Given the description of an element on the screen output the (x, y) to click on. 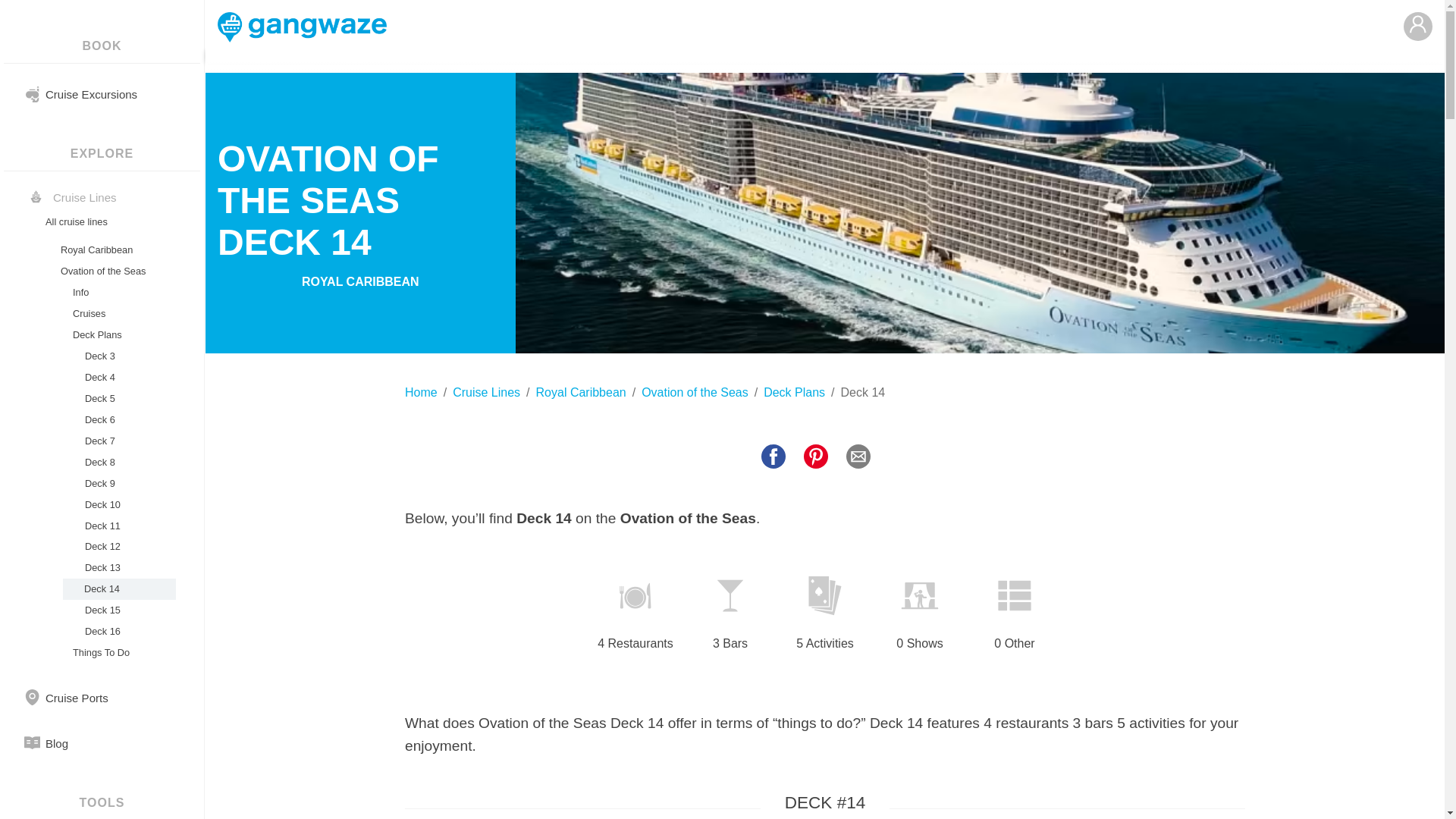
Deck 16 (117, 631)
Royal Caribbean (580, 393)
Ovation of the Seas Deck 6 (117, 419)
All cruise lines (109, 221)
Ovation of the Seas Deck 10 (117, 504)
Info (117, 292)
Ovation of the Seas Deck 13 (117, 567)
Deck 5 (117, 398)
Deck Plans (793, 393)
Ovation of the Seas Deck 15 (117, 609)
Deck 6 (117, 419)
Ovation of the Seas (117, 271)
Deck Plans (117, 334)
Deck 10 (117, 504)
Deck 3 (117, 355)
